Given the description of an element on the screen output the (x, y) to click on. 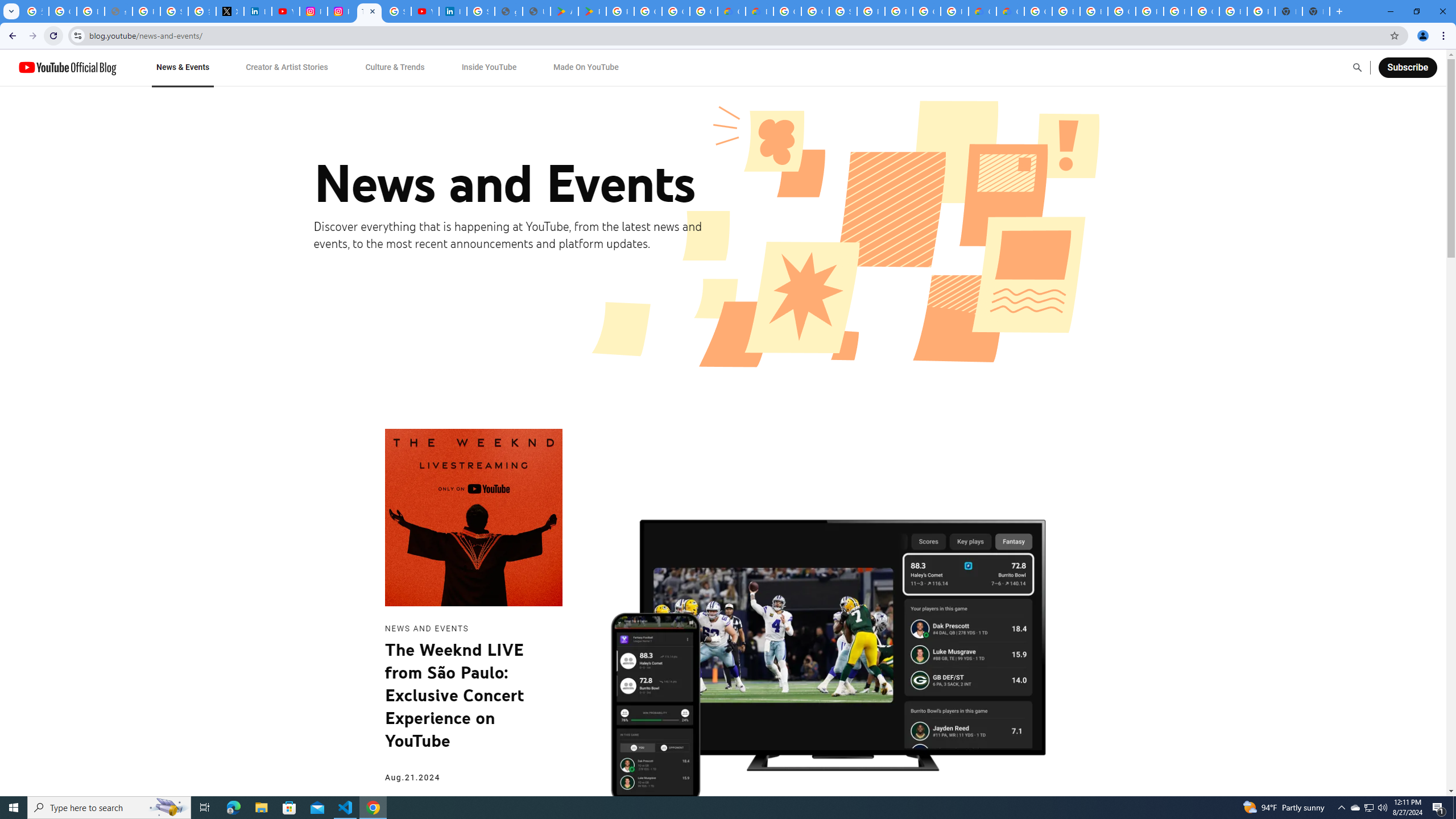
support.google.com - Network error (118, 11)
LinkedIn Privacy Policy (257, 11)
Google Cloud Estimate Summary (1010, 11)
YouTube Official Blog logo (67, 67)
Google Cloud Platform (787, 11)
Customer Care | Google Cloud (731, 11)
